Given the description of an element on the screen output the (x, y) to click on. 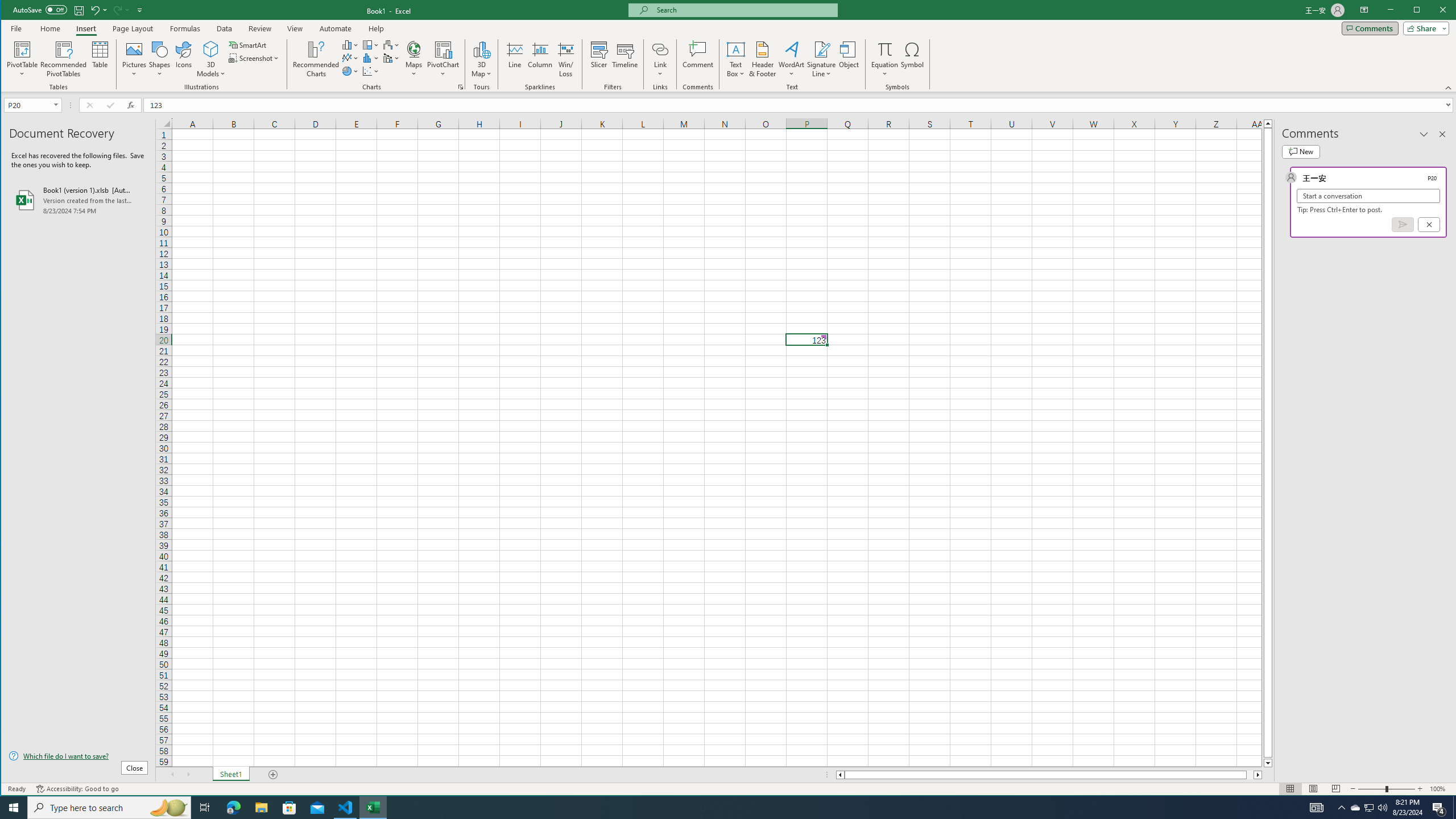
Excel - 1 running window (373, 807)
Running applications (717, 807)
Shapes (159, 59)
Signature Line (821, 59)
Microsoft Store (289, 807)
Equation (884, 48)
PivotChart (443, 48)
